Given the description of an element on the screen output the (x, y) to click on. 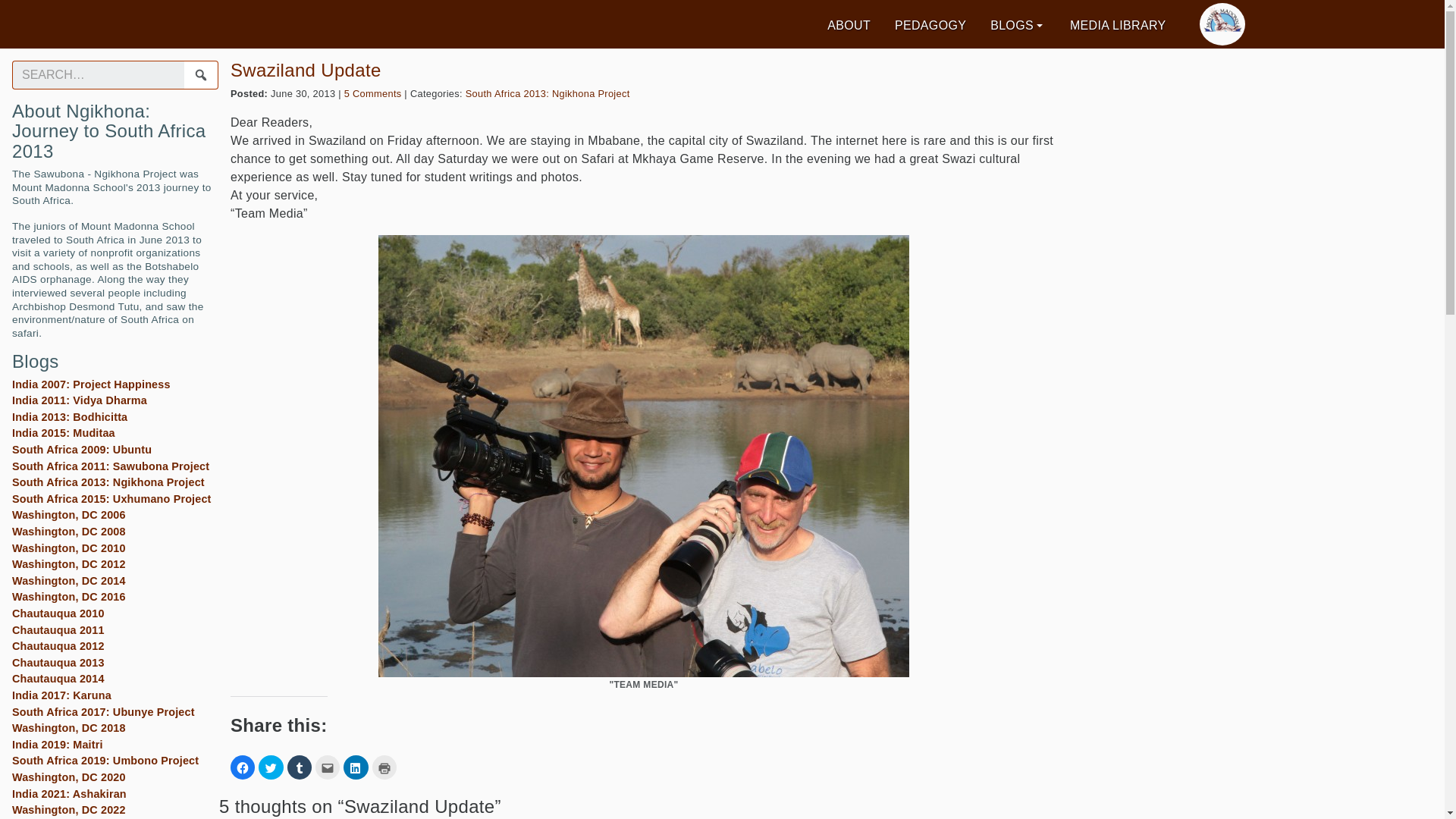
ABOUT (848, 25)
View all posts filed under Washington, DC 2012 (68, 563)
View all posts filed under India 2007: Project Happiness (90, 384)
View all posts filed under India 2013: Bodhicitta (69, 417)
View all posts filed under Washington, DC 2016 (68, 596)
View all posts filed under Washington, DC 2008 (68, 531)
View all posts filed under Washington, DC 2006 (68, 514)
Values (358, 24)
View all posts filed under South Africa 2009: Ubuntu (81, 449)
